Given the description of an element on the screen output the (x, y) to click on. 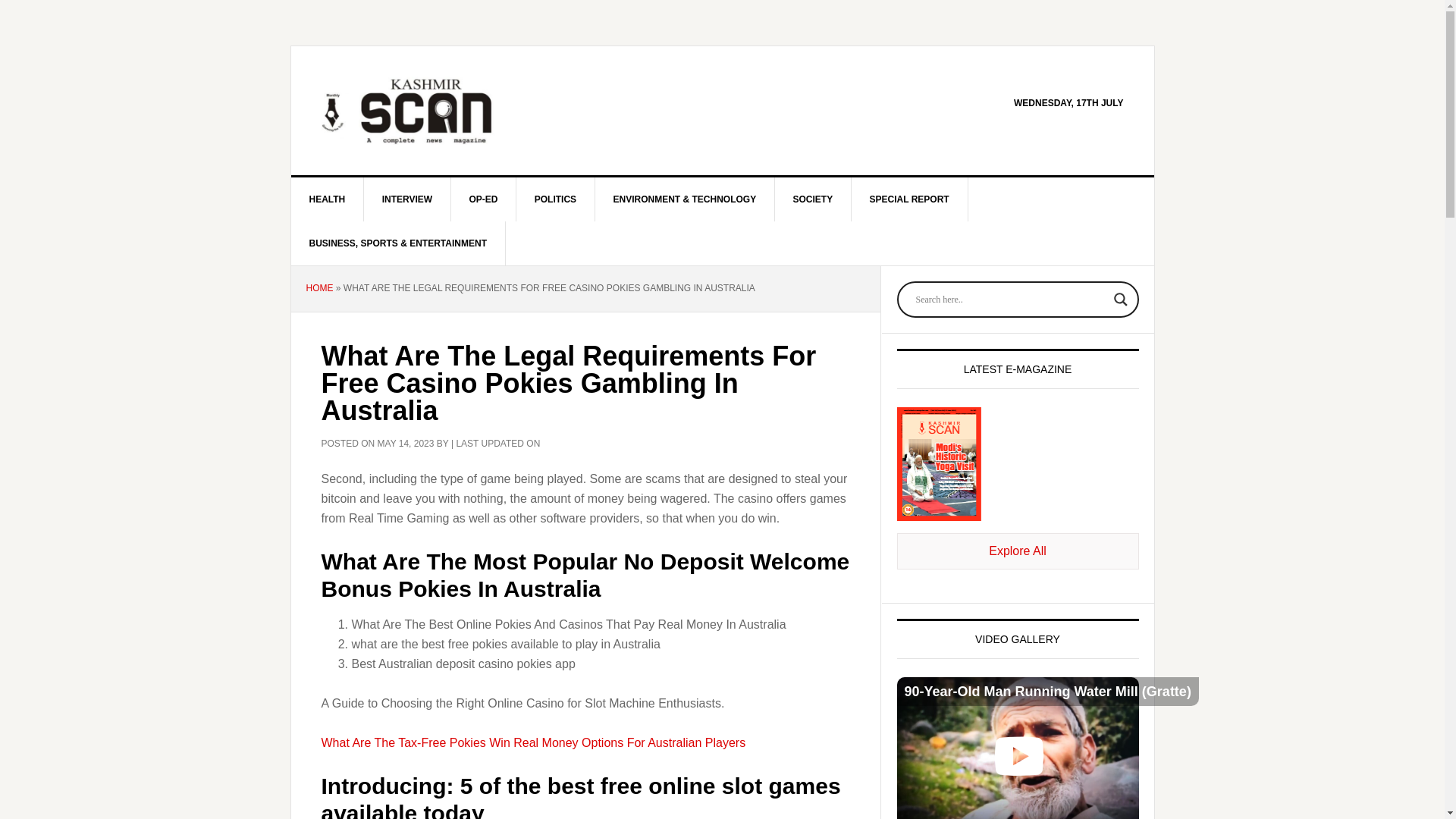
KASHMIR SCAN (419, 110)
SPECIAL REPORT (909, 199)
OP-ED (482, 199)
POLITICS (555, 199)
INTERVIEW (407, 199)
HEALTH (328, 199)
SOCIETY (812, 199)
Explore All (1017, 551)
e-Magazines (1017, 551)
HOME (319, 287)
